Given the description of an element on the screen output the (x, y) to click on. 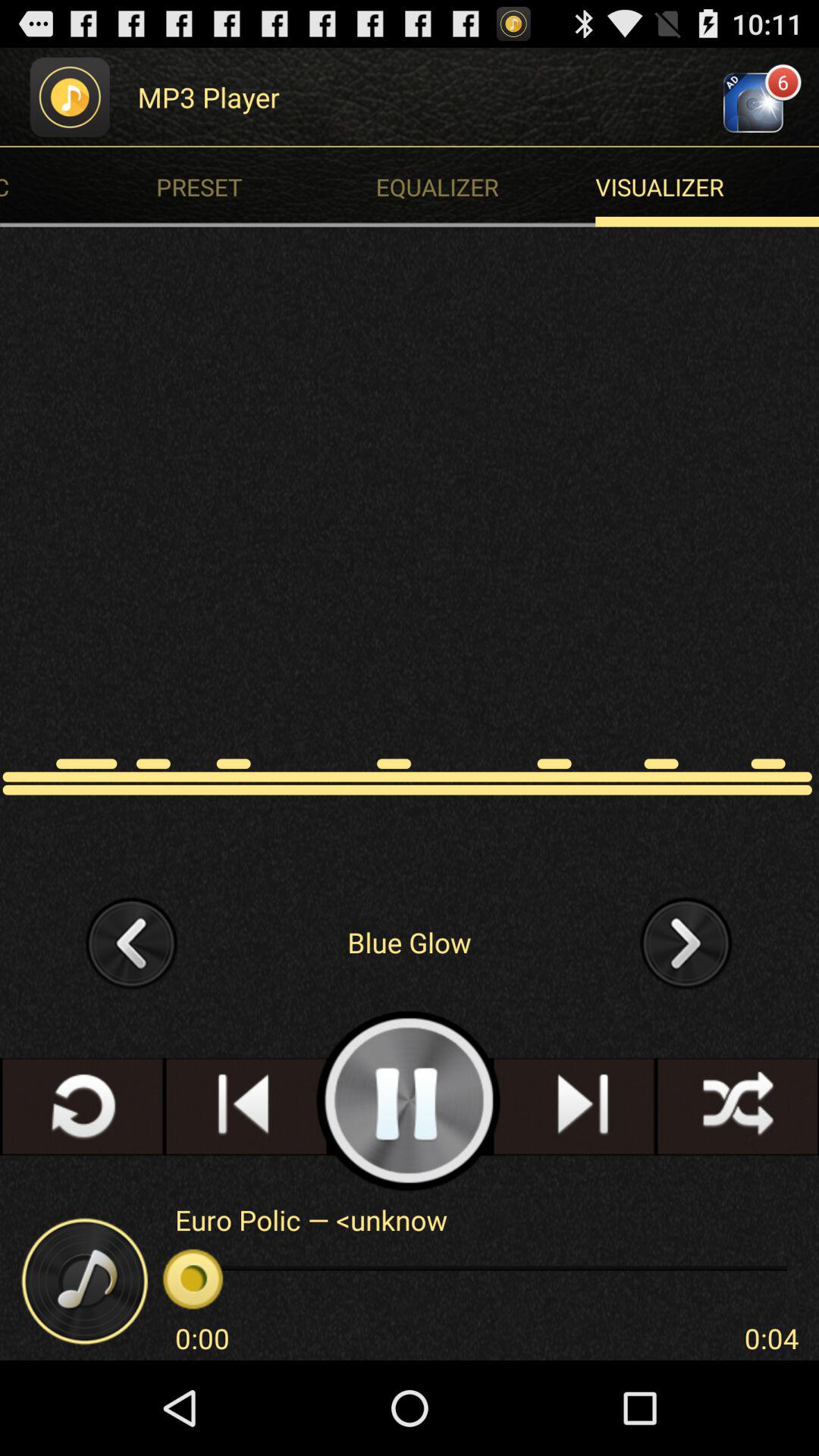
launch the item at the top (489, 186)
